Given the description of an element on the screen output the (x, y) to click on. 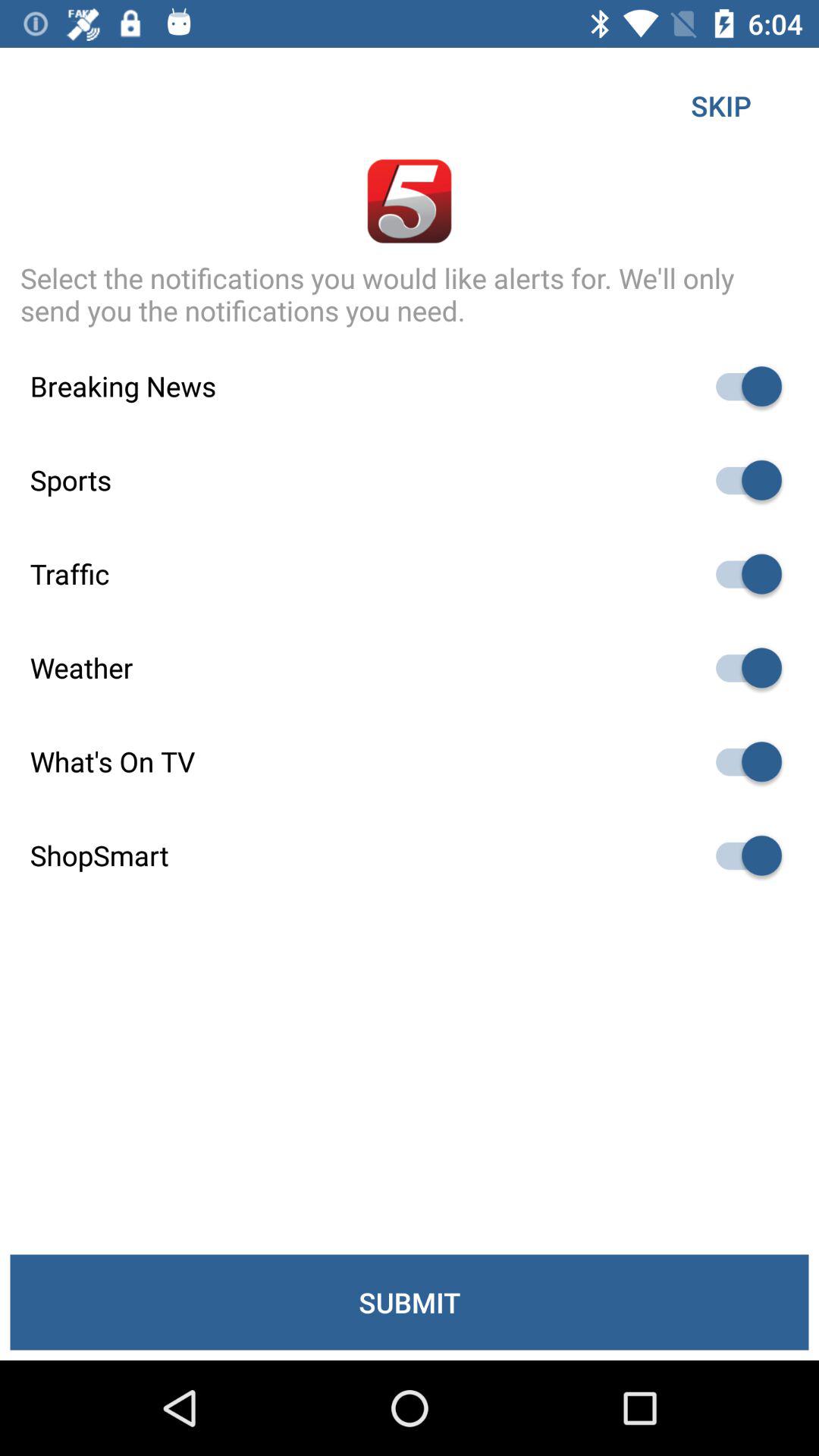
flip to submit icon (409, 1302)
